Given the description of an element on the screen output the (x, y) to click on. 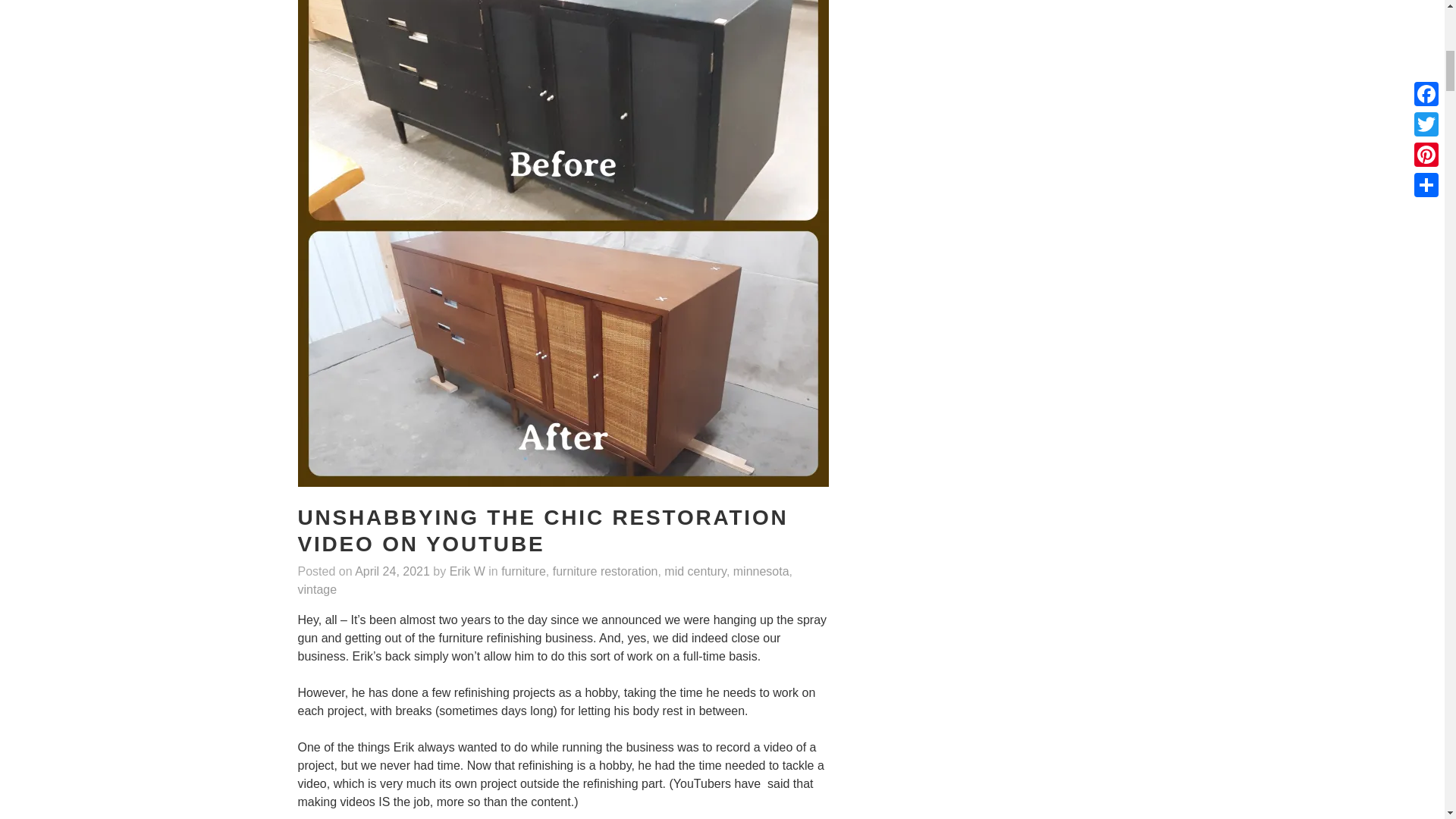
minnesota (761, 572)
Erik W (466, 572)
UNSHABBYING THE CHIC RESTORATION VIDEO ON YOUTUBE (542, 531)
furniture (523, 572)
furniture restoration (605, 572)
vintage (316, 590)
mid century (694, 572)
April 24, 2021 (392, 572)
